Given the description of an element on the screen output the (x, y) to click on. 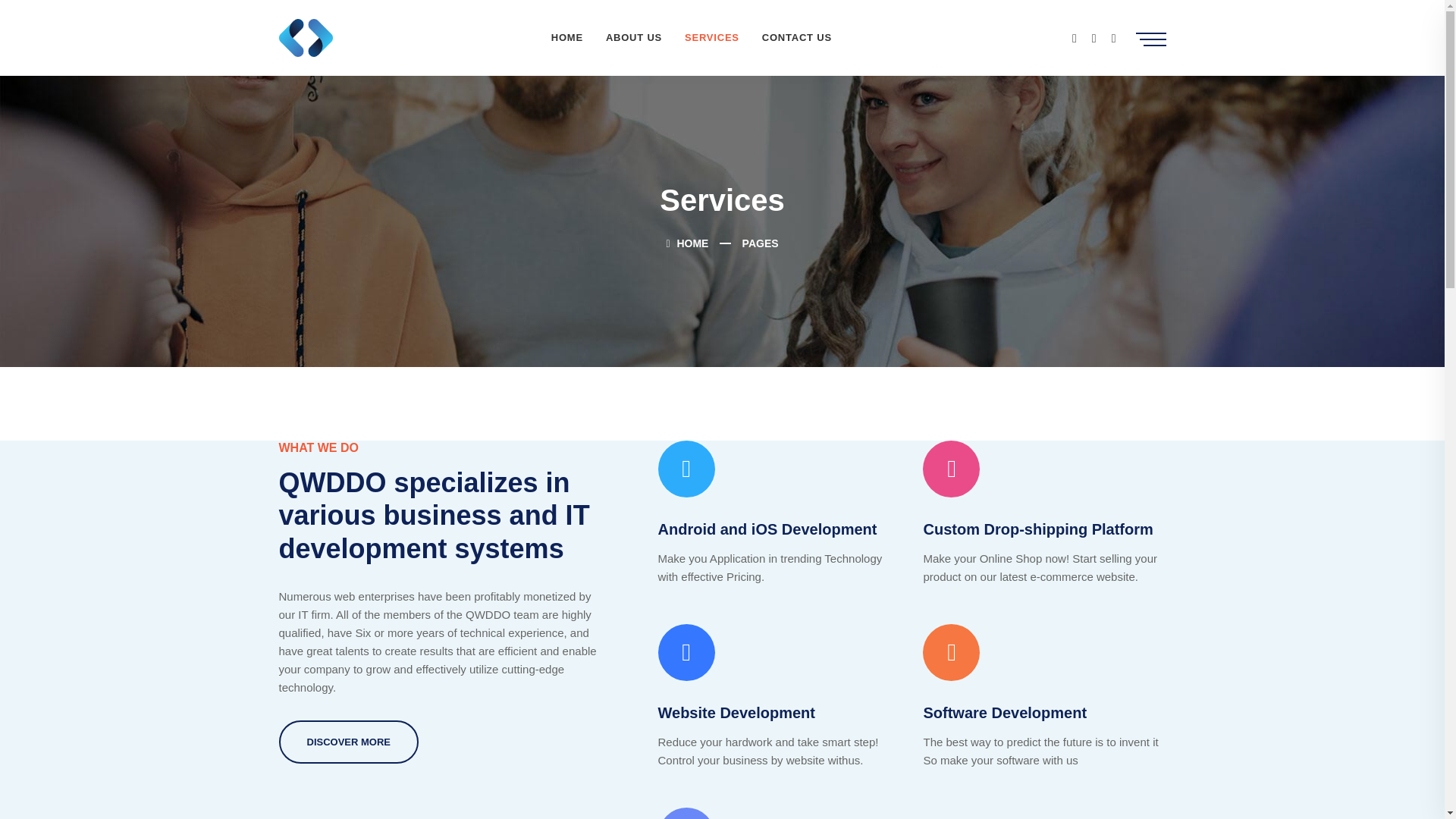
Services (711, 38)
Android and iOS Development (767, 528)
Software Development (1004, 712)
Contact Us (797, 38)
HOME (686, 243)
Website Development (736, 712)
About Us (633, 38)
CONTACT US (797, 38)
Custom Drop-shipping Platform (1038, 528)
ABOUT US (633, 38)
SERVICES (711, 38)
DISCOVER MORE (349, 741)
